Given the description of an element on the screen output the (x, y) to click on. 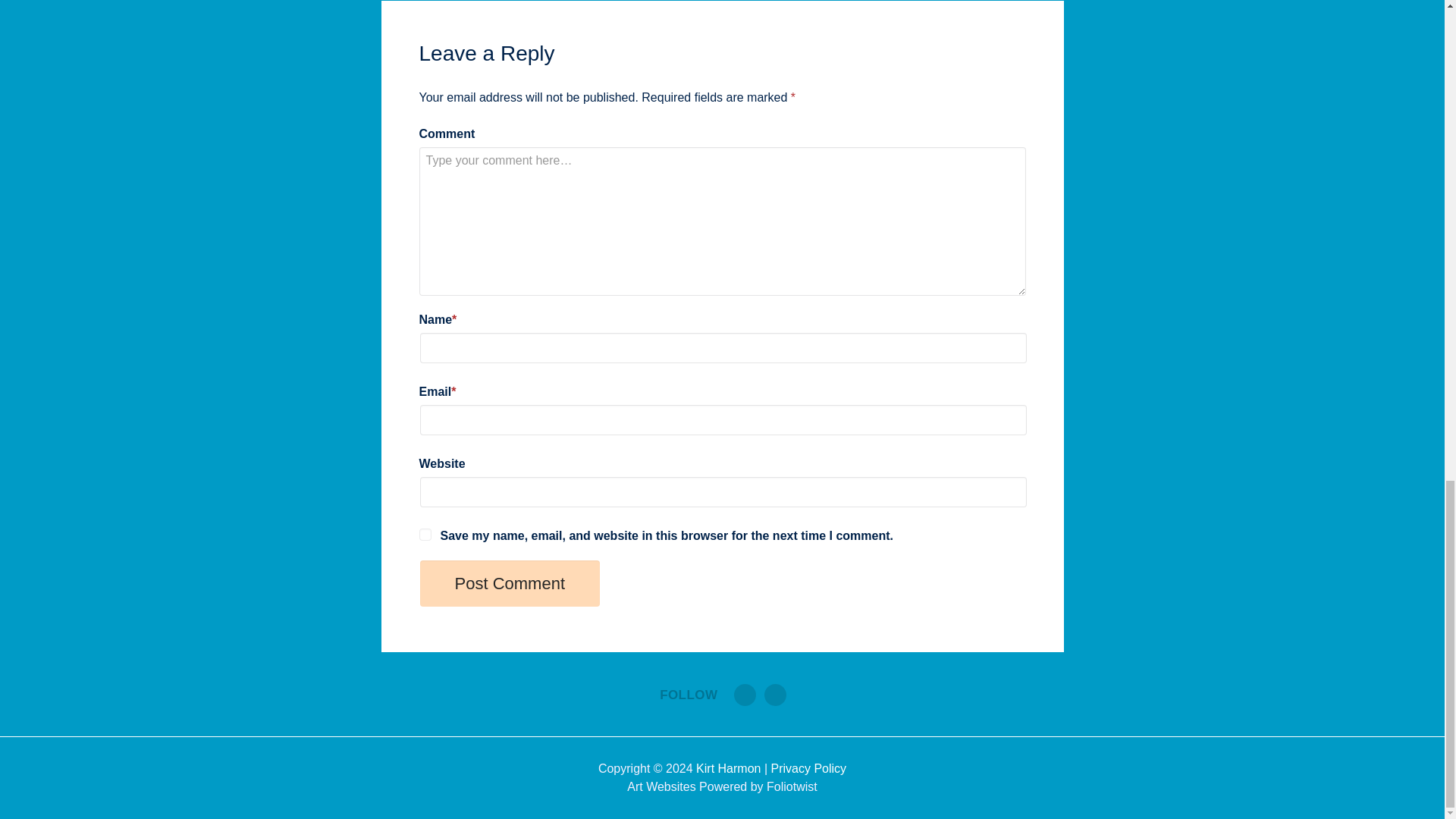
Post Comment (509, 583)
Follow on Facebook (775, 694)
yes (424, 534)
Post Comment (509, 583)
Kirt Harmon (727, 768)
Privacy Policy (809, 768)
Art Websites Powered by Foliotwist (721, 786)
Subscribe to RSS (744, 694)
